Given the description of an element on the screen output the (x, y) to click on. 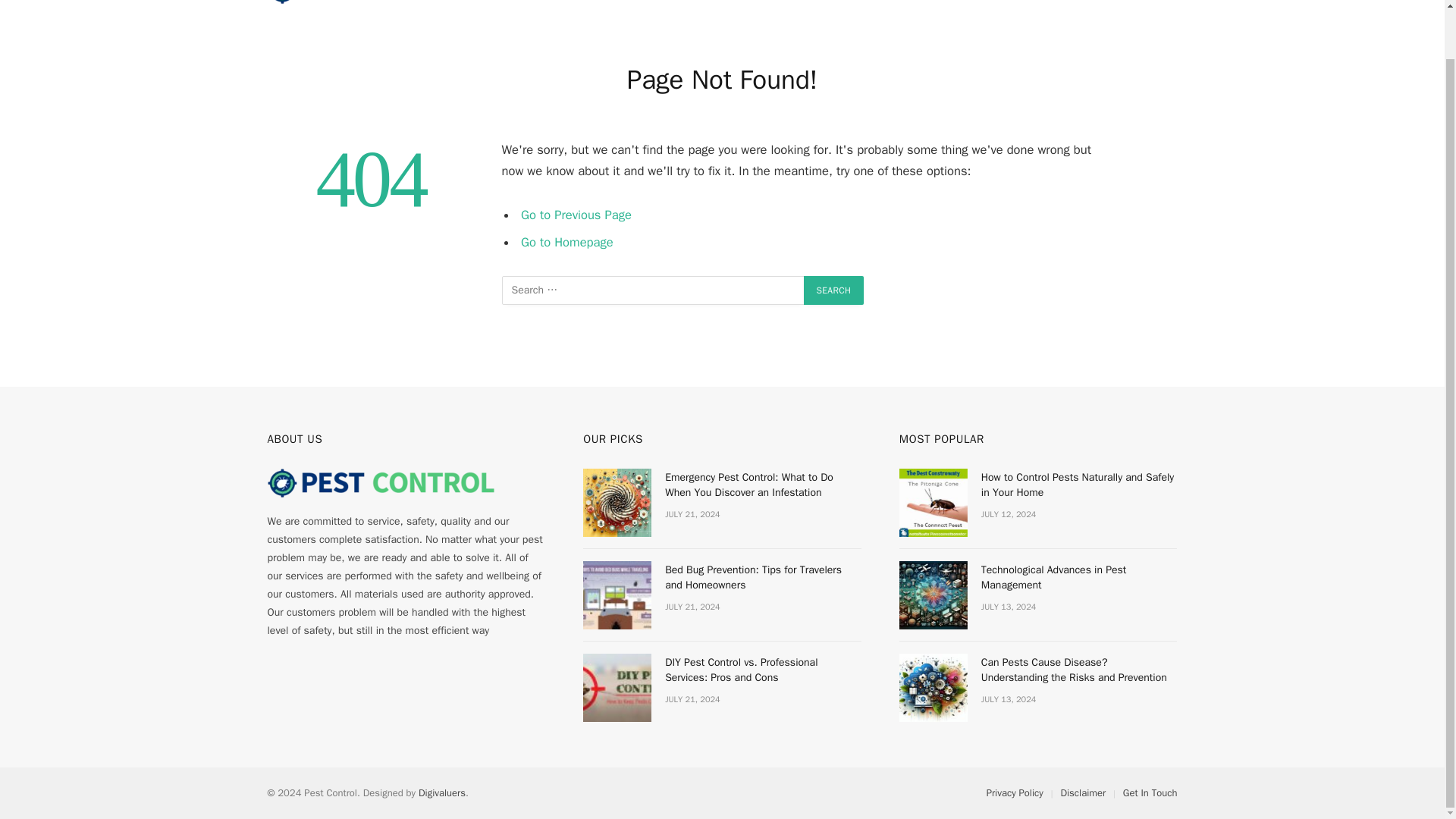
Pest Control NY (380, 5)
HOME (588, 15)
Search (833, 290)
Search (833, 290)
PESTS (652, 15)
